Given the description of an element on the screen output the (x, y) to click on. 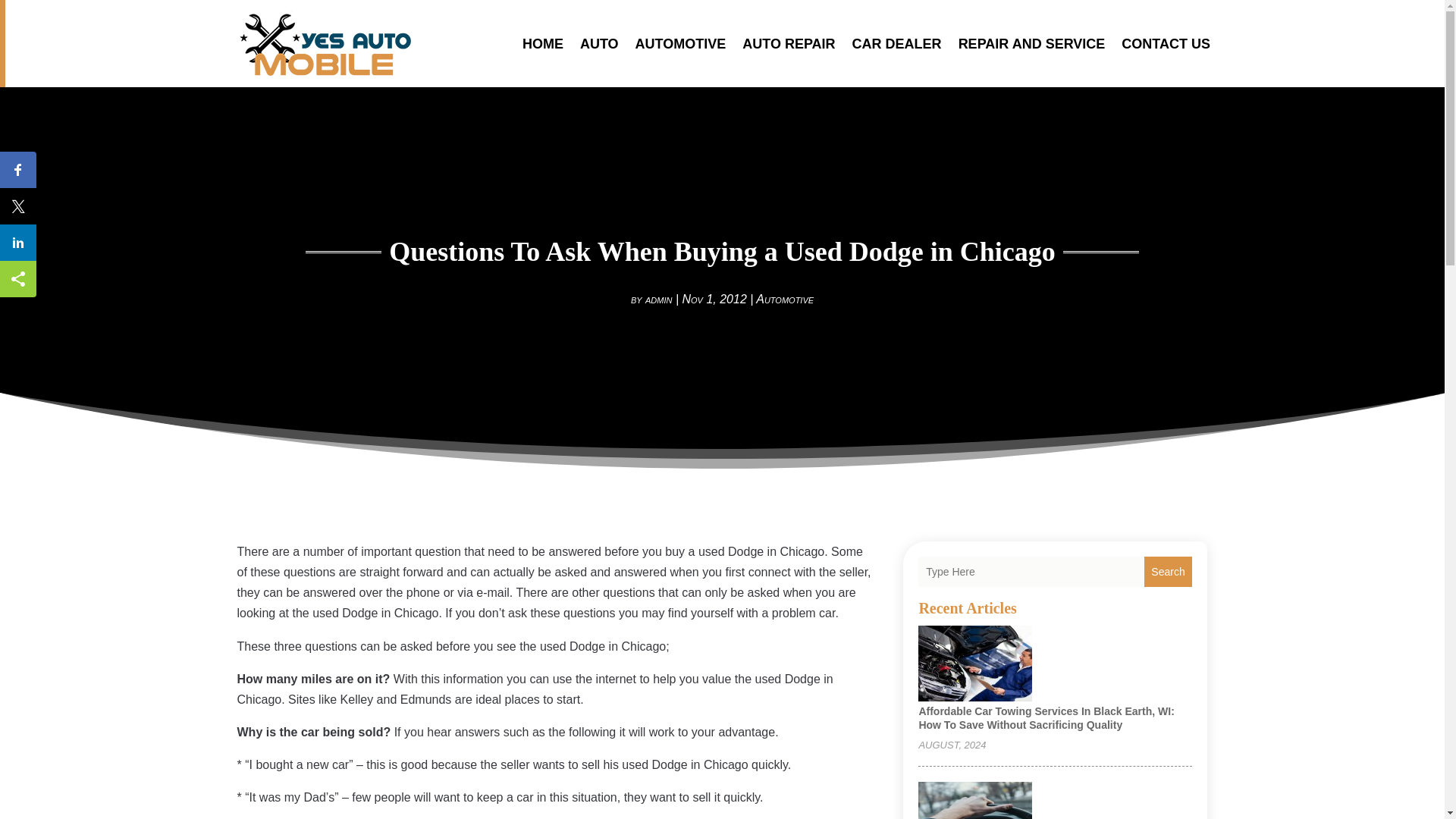
AUTOMOTIVE (680, 43)
Automotive (784, 298)
Posts by admin (658, 298)
Search (1168, 571)
CONTACT US (1165, 43)
admin (658, 298)
REPAIR AND SERVICE (1031, 43)
AUTO REPAIR (788, 43)
CAR DEALER (896, 43)
